Given the description of an element on the screen output the (x, y) to click on. 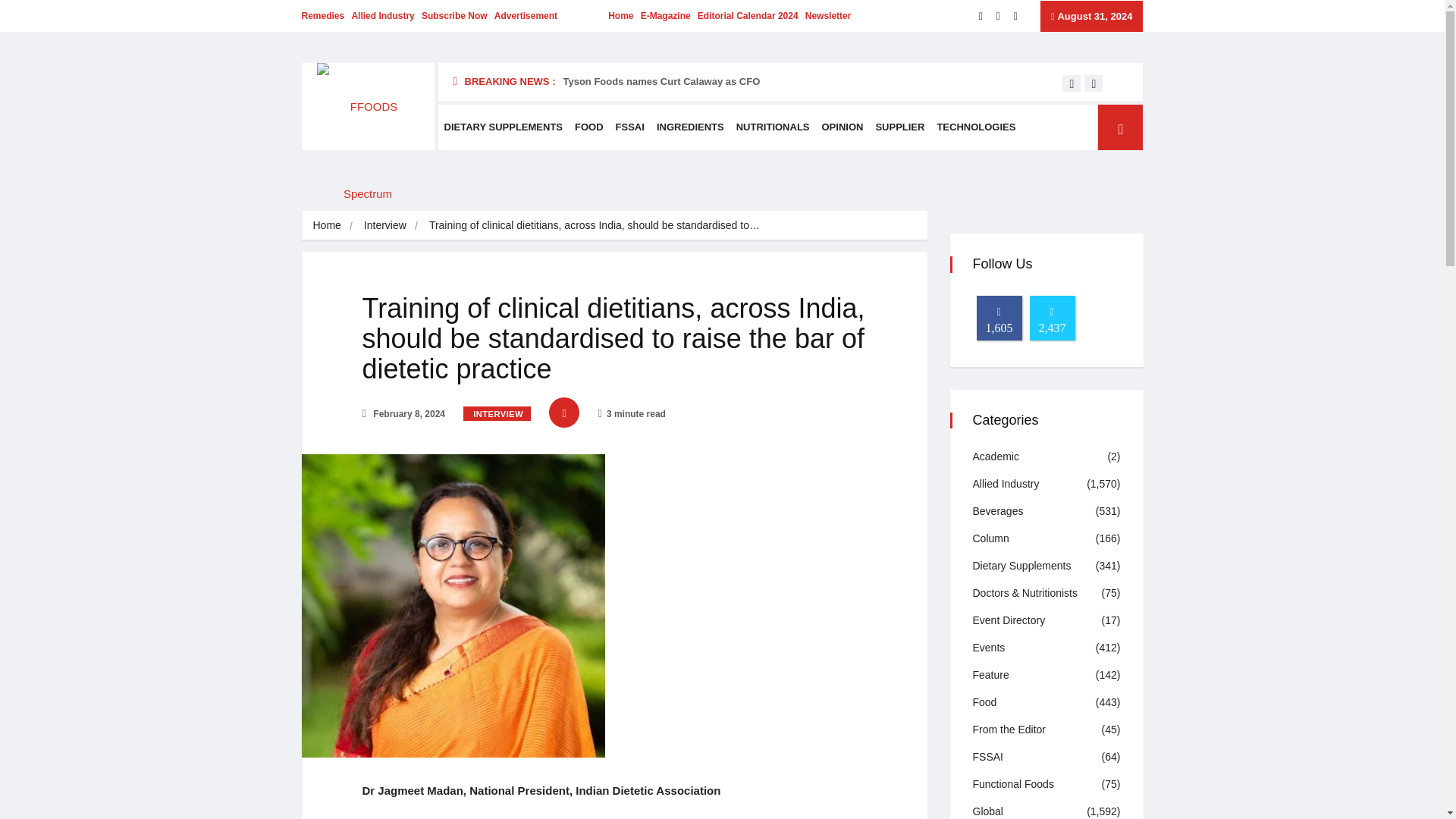
E-Magazine (665, 15)
OPINION (842, 126)
NUTRITIONALS (772, 126)
FSSAI (630, 126)
INTERVIEW (497, 413)
Remedies (323, 15)
Newsletter (828, 15)
SUPPLIER (899, 126)
Home (326, 224)
Interview (385, 224)
